Given the description of an element on the screen output the (x, y) to click on. 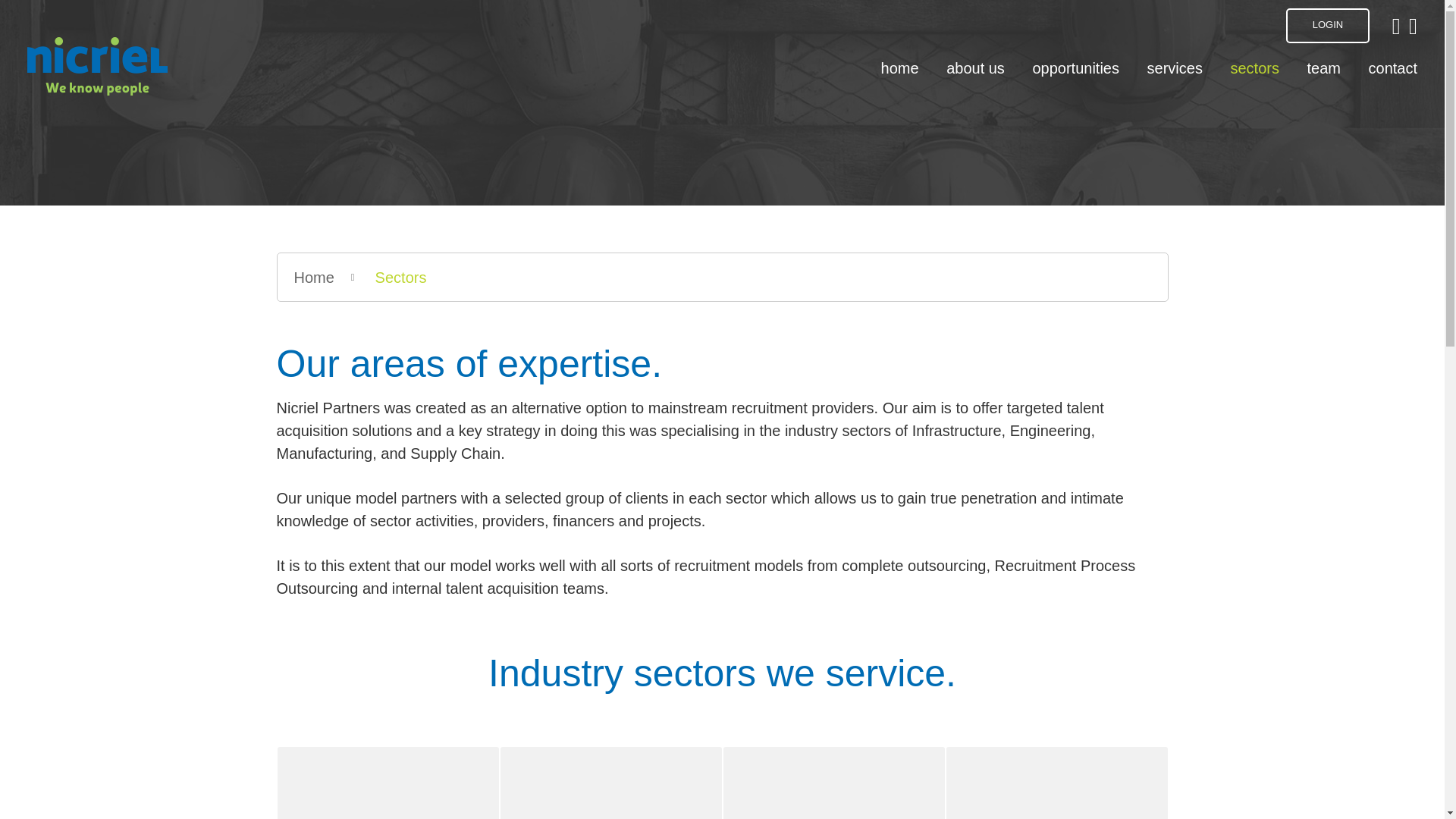
about us (975, 67)
Engineering (611, 782)
home (899, 67)
Home (310, 277)
LOGIN (1327, 25)
Nicriel (97, 65)
Sectors (396, 277)
team (1322, 67)
services (1174, 67)
sectors (1254, 67)
